Given the description of an element on the screen output the (x, y) to click on. 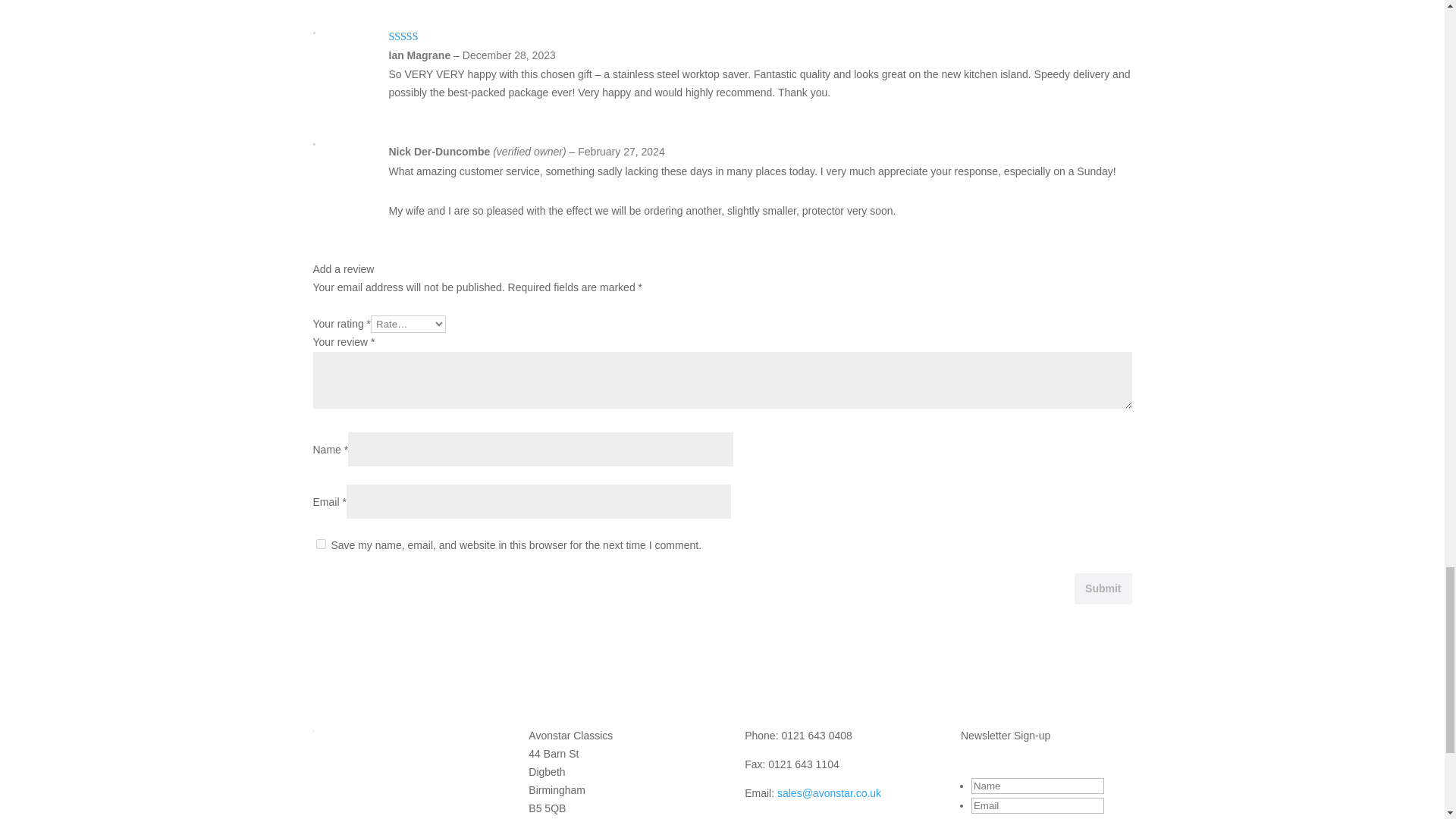
Submit (1102, 588)
yes (319, 543)
Submit (1102, 588)
